Given the description of an element on the screen output the (x, y) to click on. 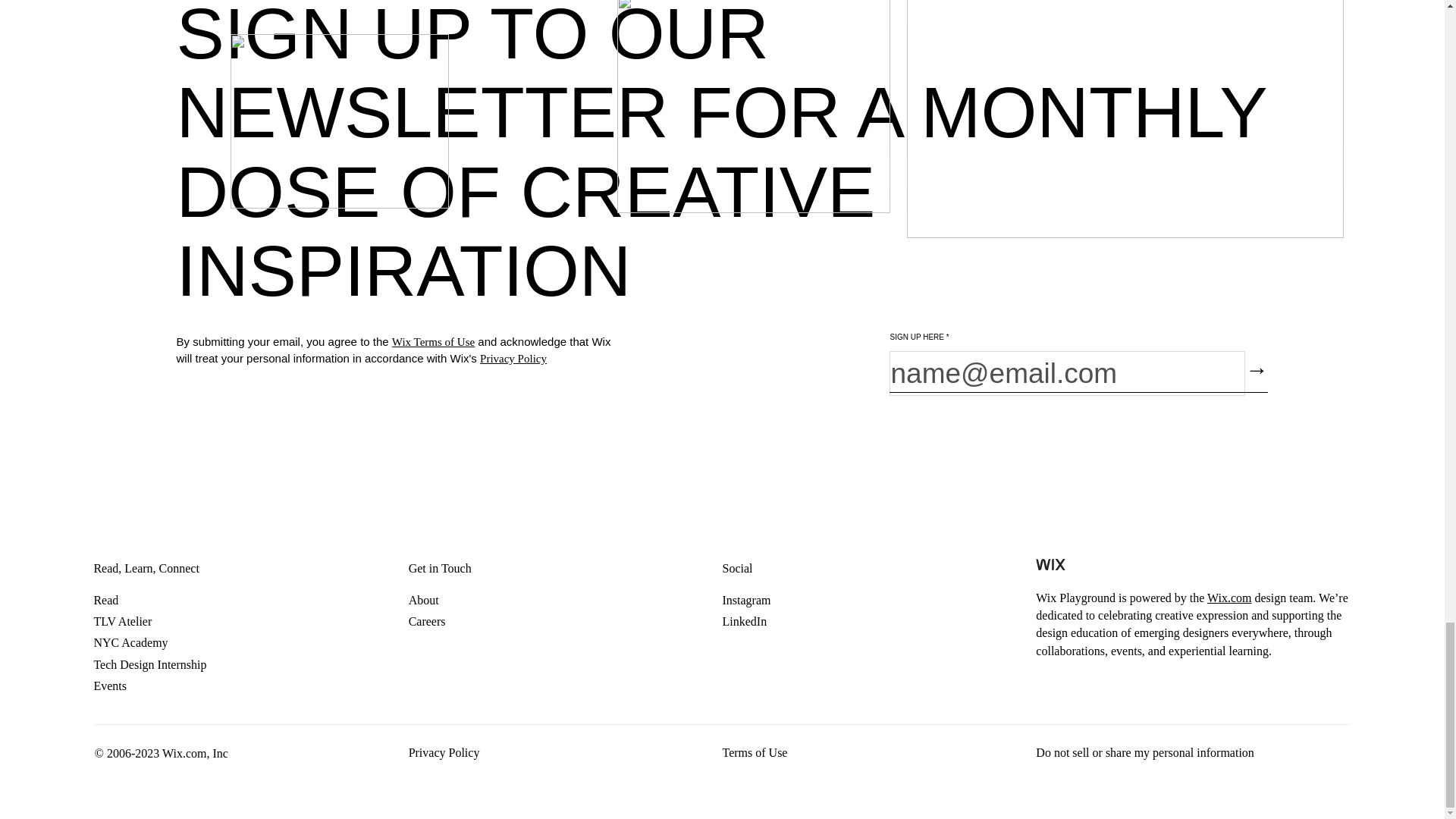
Privacy Policy (513, 358)
Wix.com (1228, 597)
Read (161, 599)
TLV Atelier (161, 621)
NYC Academy (161, 642)
Wix Terms of Use (432, 341)
Events (161, 685)
Careers (440, 621)
Tech Design Internship (161, 664)
LinkedIn (748, 621)
Privacy Policy (444, 752)
About (440, 599)
Do not sell or share my personal information (1144, 752)
Instagram (748, 599)
